Given the description of an element on the screen output the (x, y) to click on. 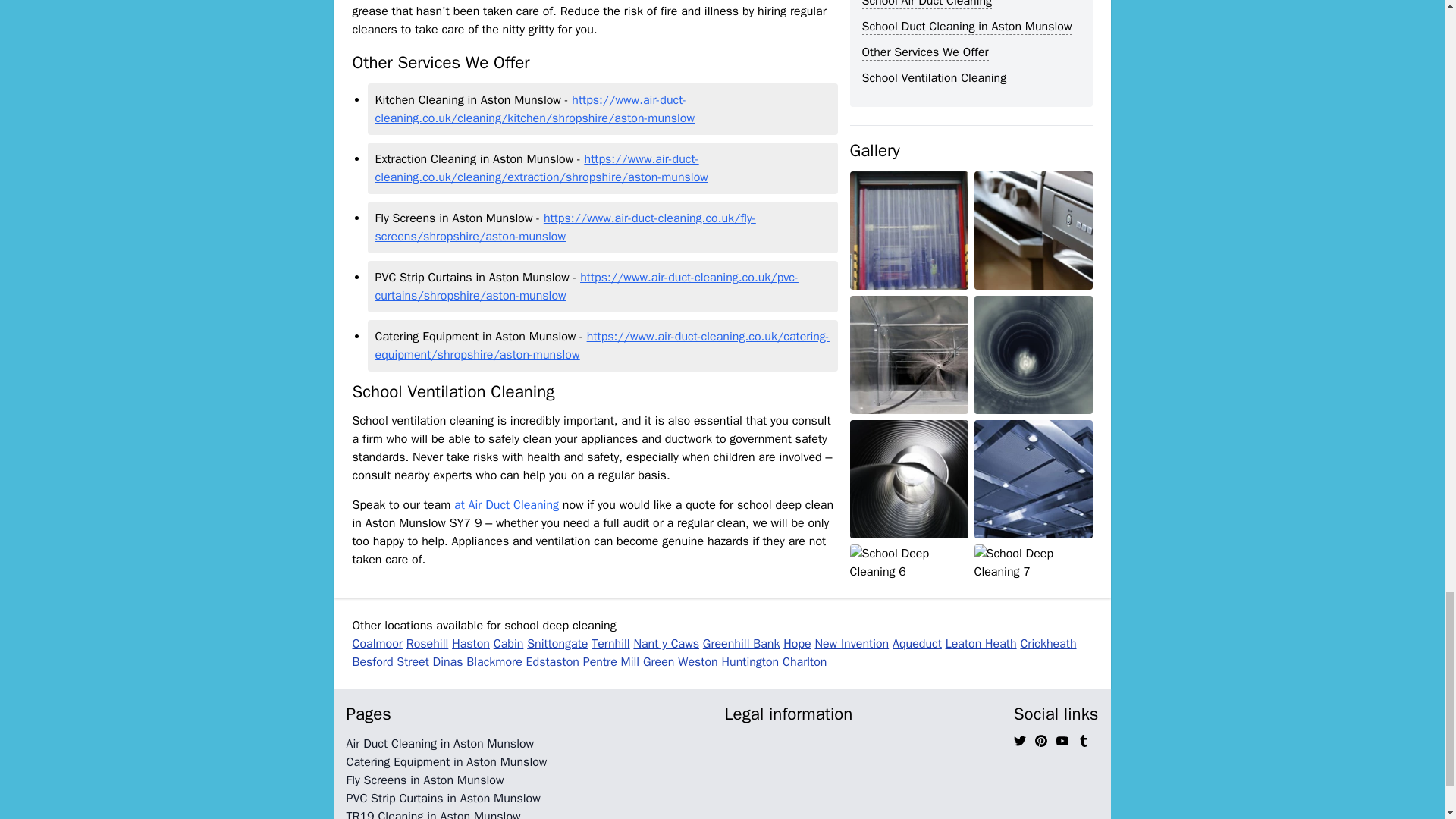
at Air Duct Cleaning (506, 504)
